Given the description of an element on the screen output the (x, y) to click on. 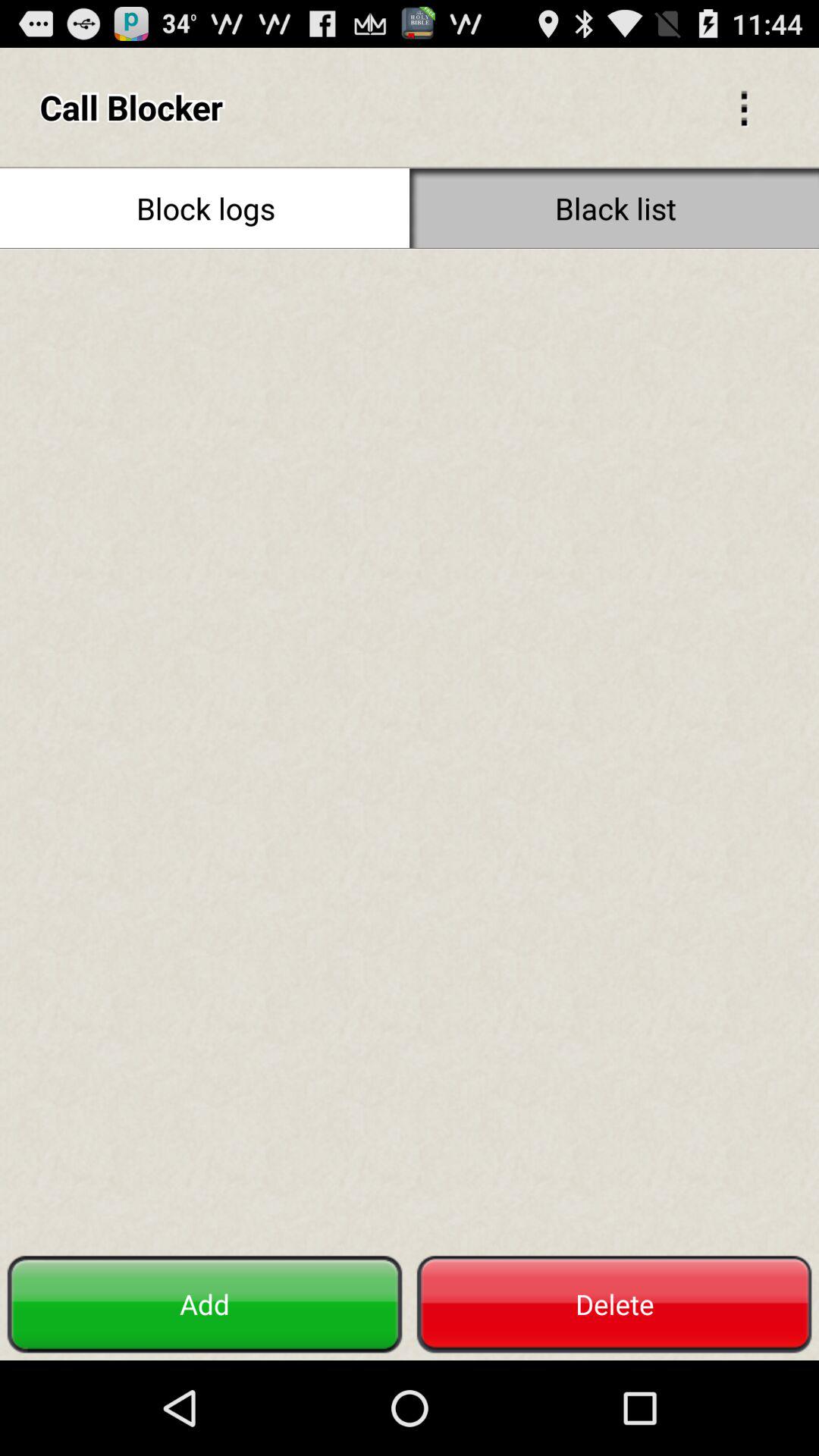
swipe to add (204, 1304)
